Given the description of an element on the screen output the (x, y) to click on. 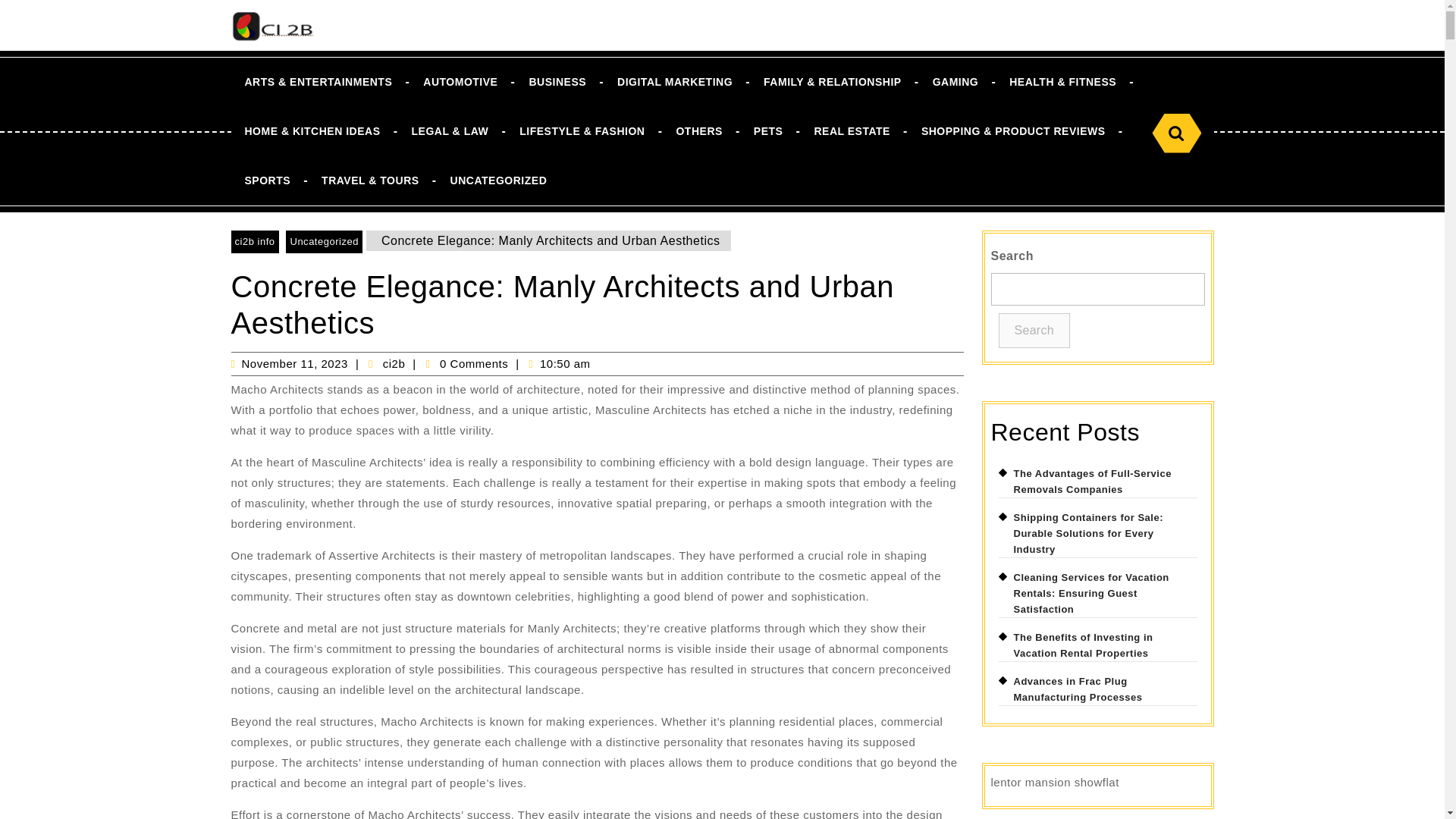
BUSINESS (557, 82)
Search (1176, 133)
ci2b info (254, 241)
OTHERS (698, 131)
SPORTS (267, 180)
AUTOMOTIVE (460, 82)
DIGITAL MARKETING (674, 82)
REAL ESTATE (851, 131)
GAMING (955, 82)
UNCATEGORIZED (498, 180)
